Given the description of an element on the screen output the (x, y) to click on. 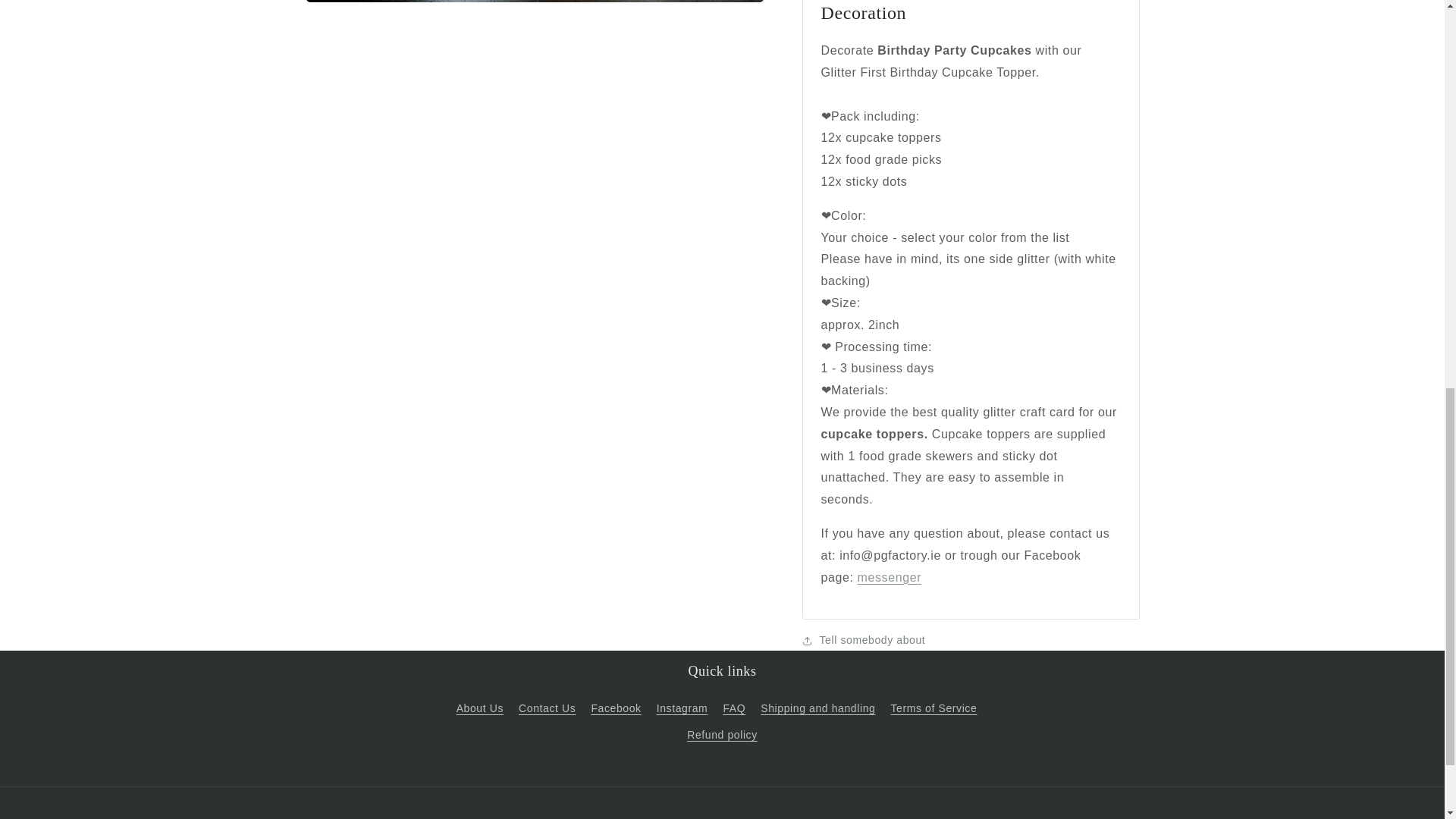
Facebook contact (889, 565)
